Given the description of an element on the screen output the (x, y) to click on. 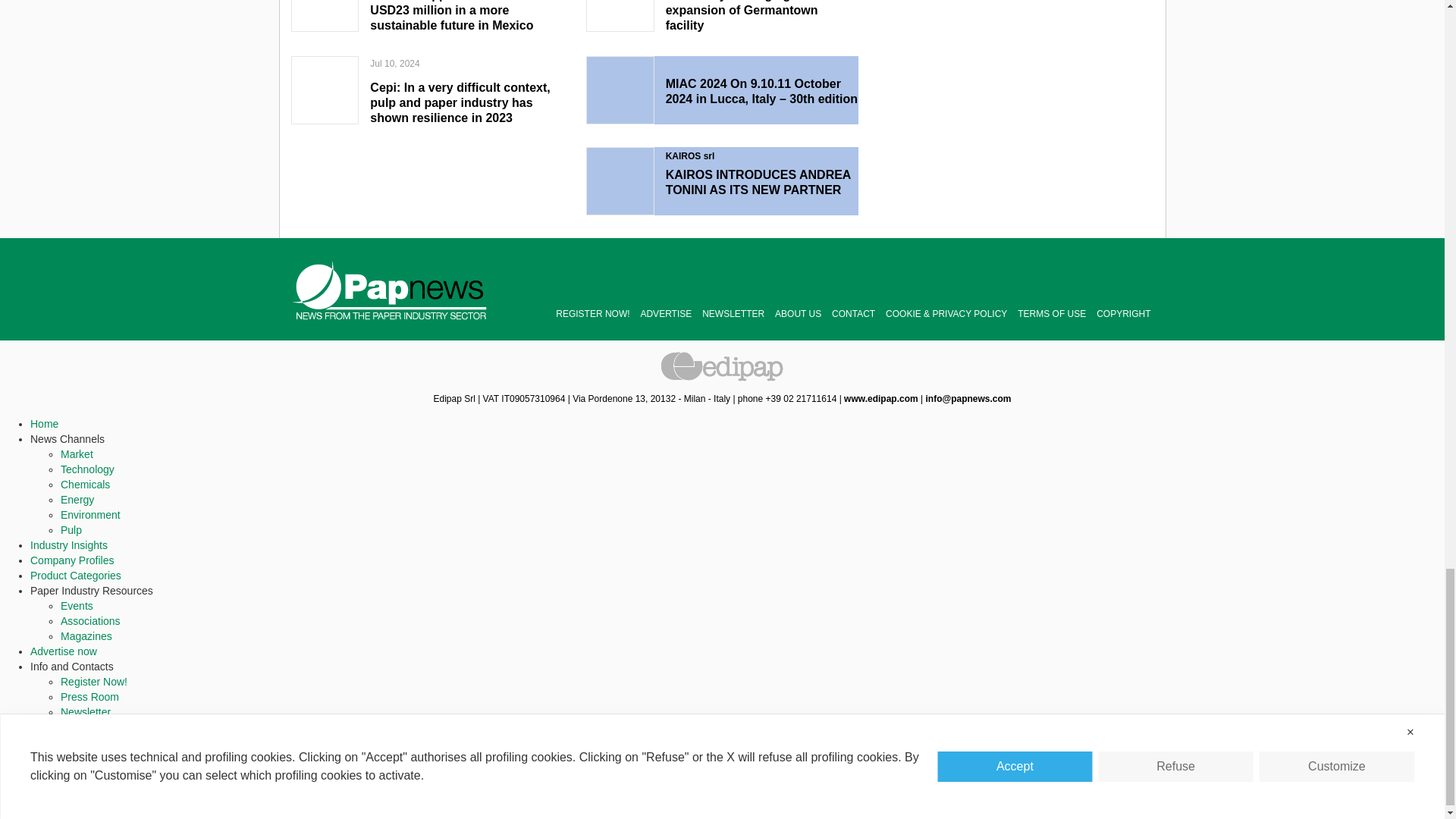
back to home page (389, 290)
visit Edipap website (881, 398)
